Given the description of an element on the screen output the (x, y) to click on. 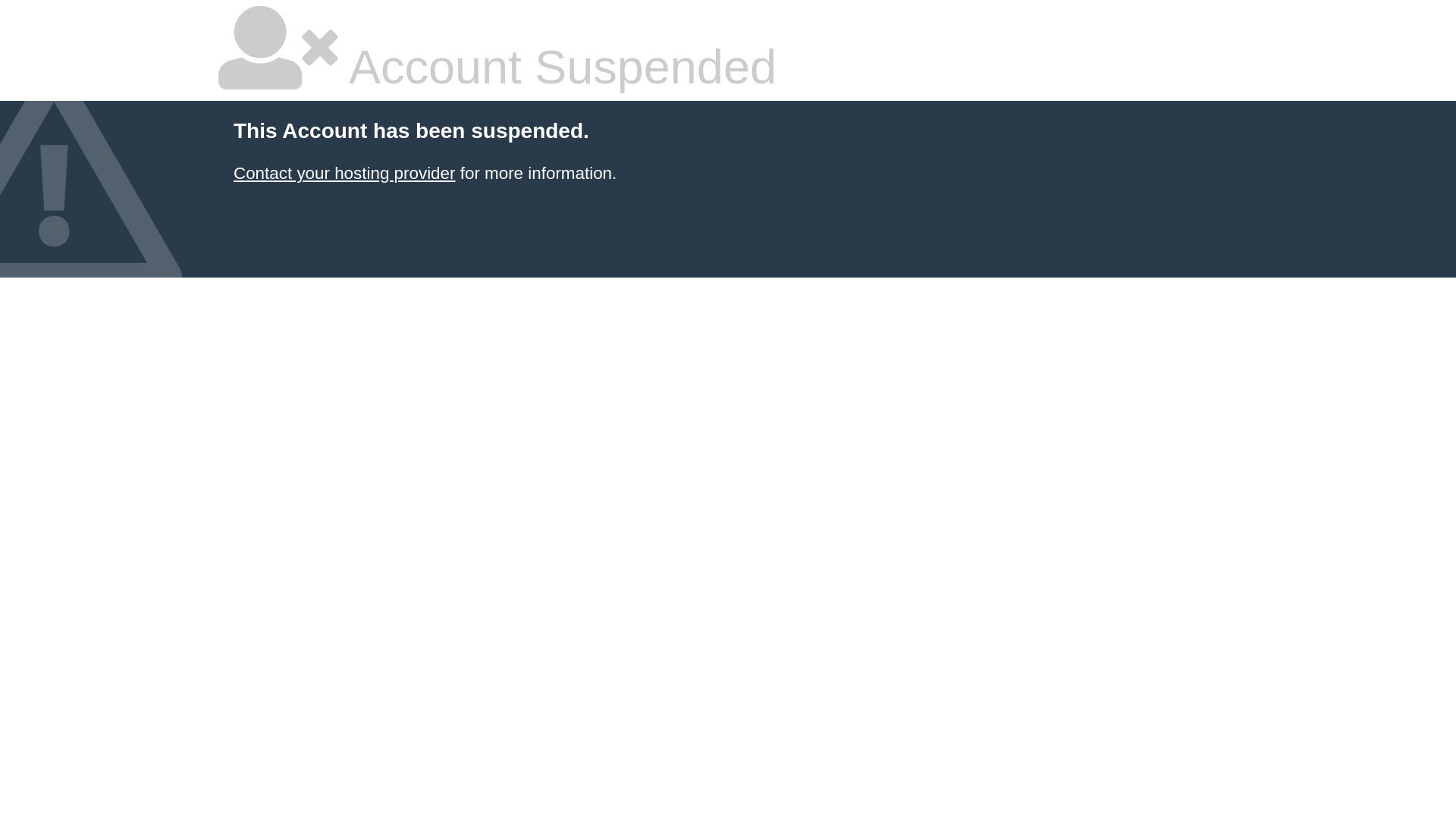
Contact your hosting provider Element type: text (344, 172)
